Given the description of an element on the screen output the (x, y) to click on. 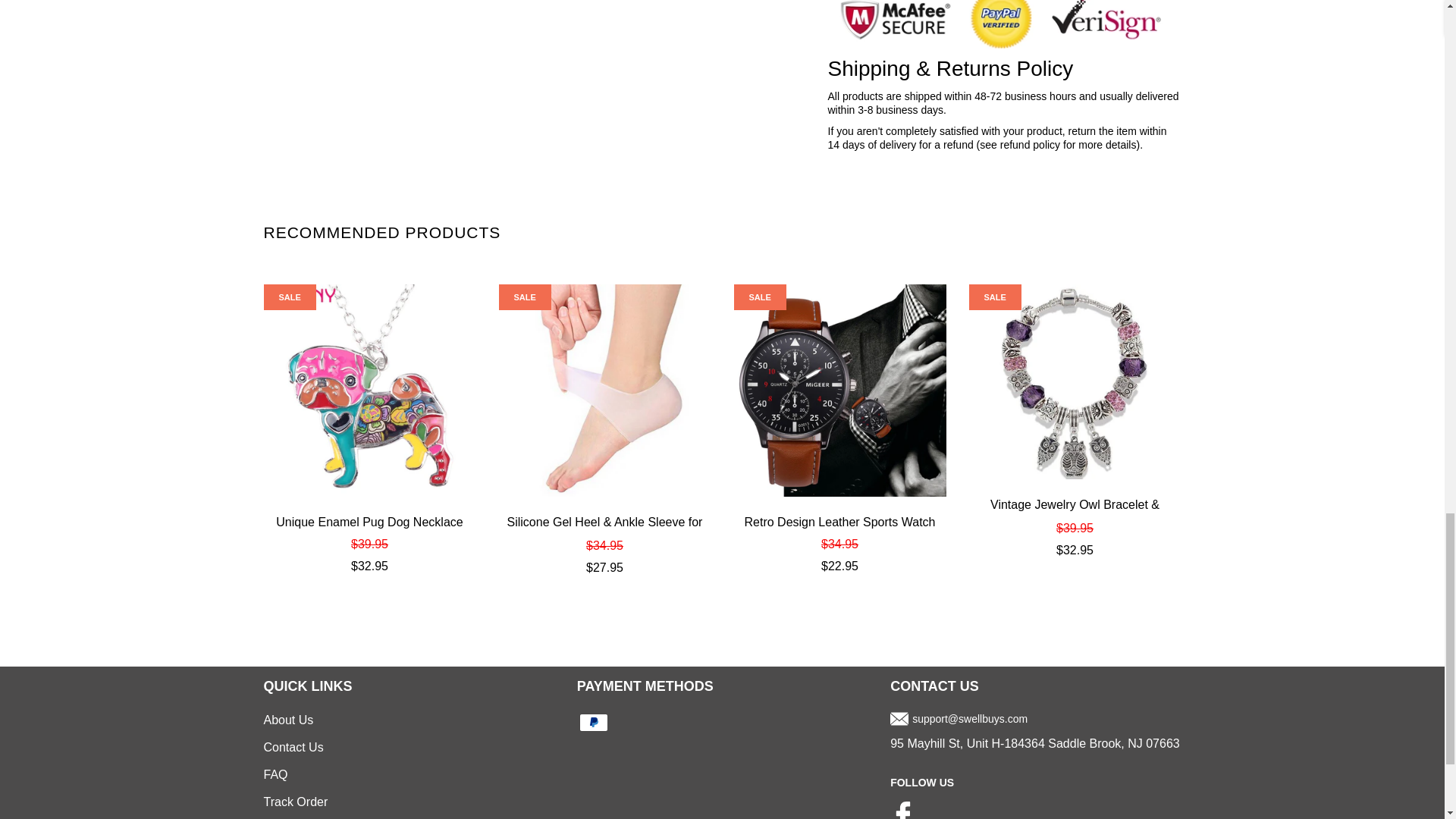
FAQ (275, 774)
Unique Enamel Pug Dog Necklace (369, 522)
About Us (288, 719)
Contact Us (293, 747)
Track Order (296, 801)
Retro Design Leather Sports Watch (839, 522)
Unique Enamel Pug Dog Necklace (369, 390)
